Given the description of an element on the screen output the (x, y) to click on. 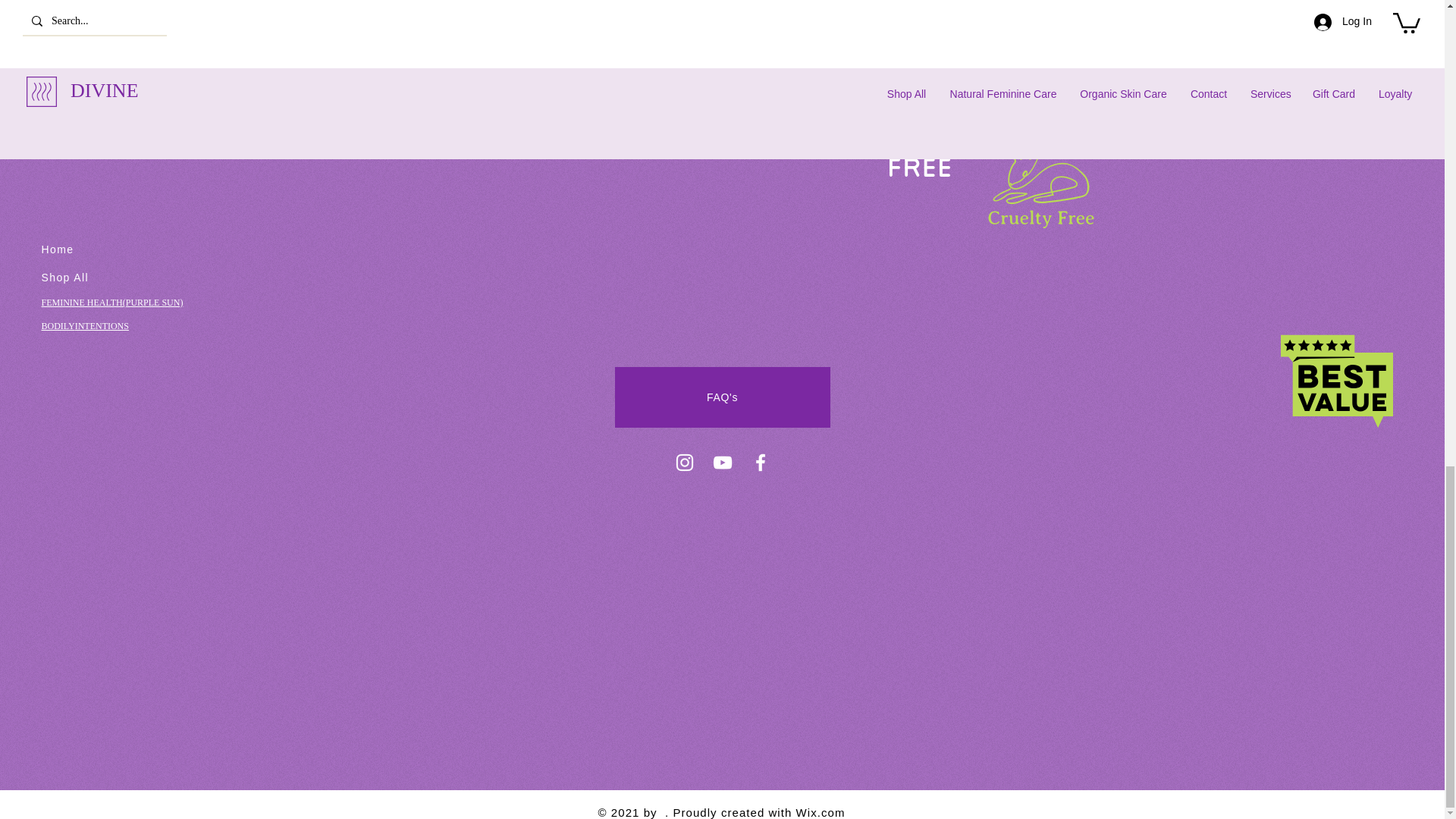
Shop All (64, 277)
BODILY (57, 326)
Store  (721, 40)
FAQ's (721, 396)
INTENTIONS (102, 326)
Home (57, 249)
Shipping and Returns (721, 13)
